Given the description of an element on the screen output the (x, y) to click on. 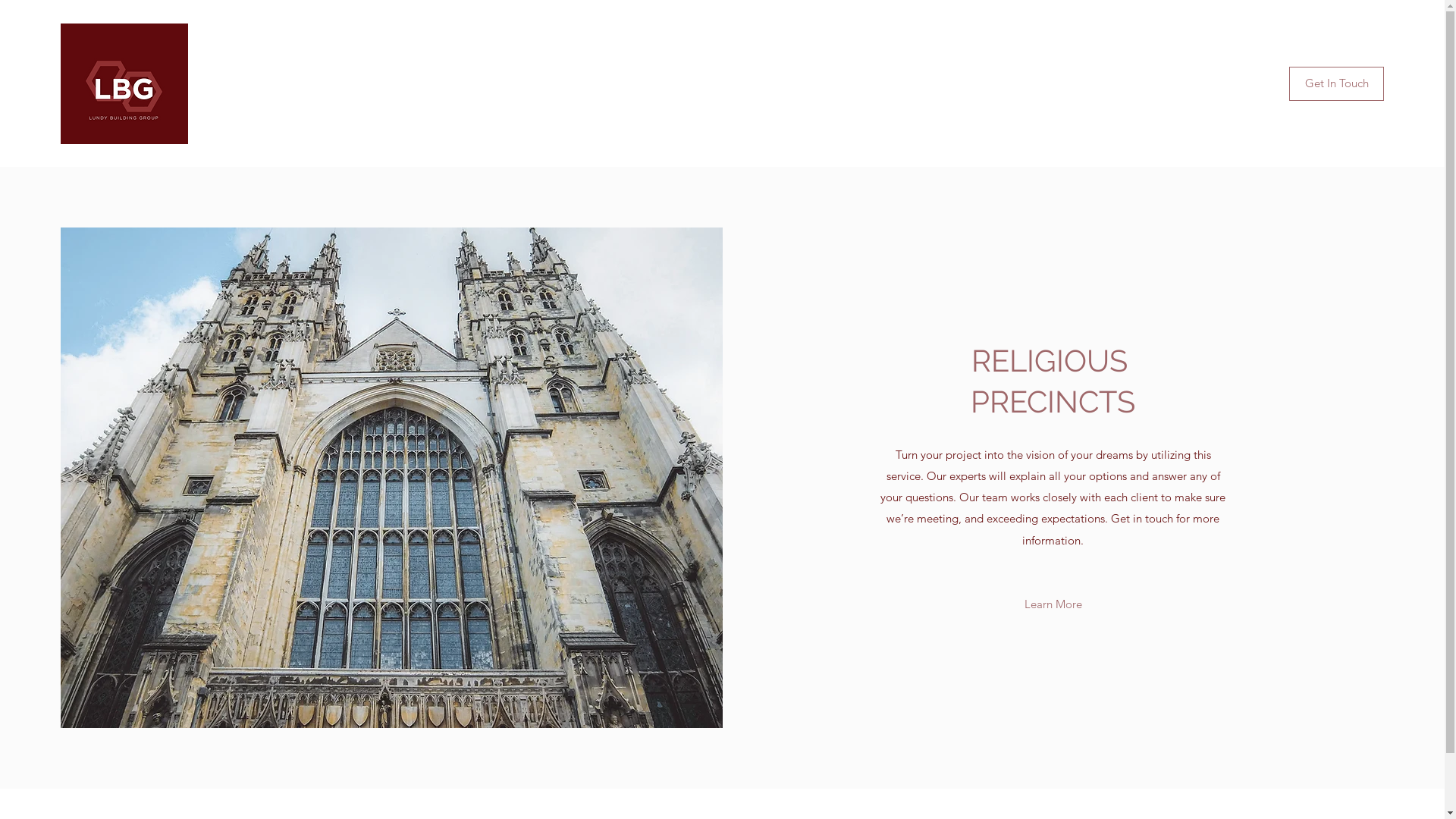
Get In Touch Element type: text (1336, 83)
Learn More Element type: text (1053, 604)
